Given the description of an element on the screen output the (x, y) to click on. 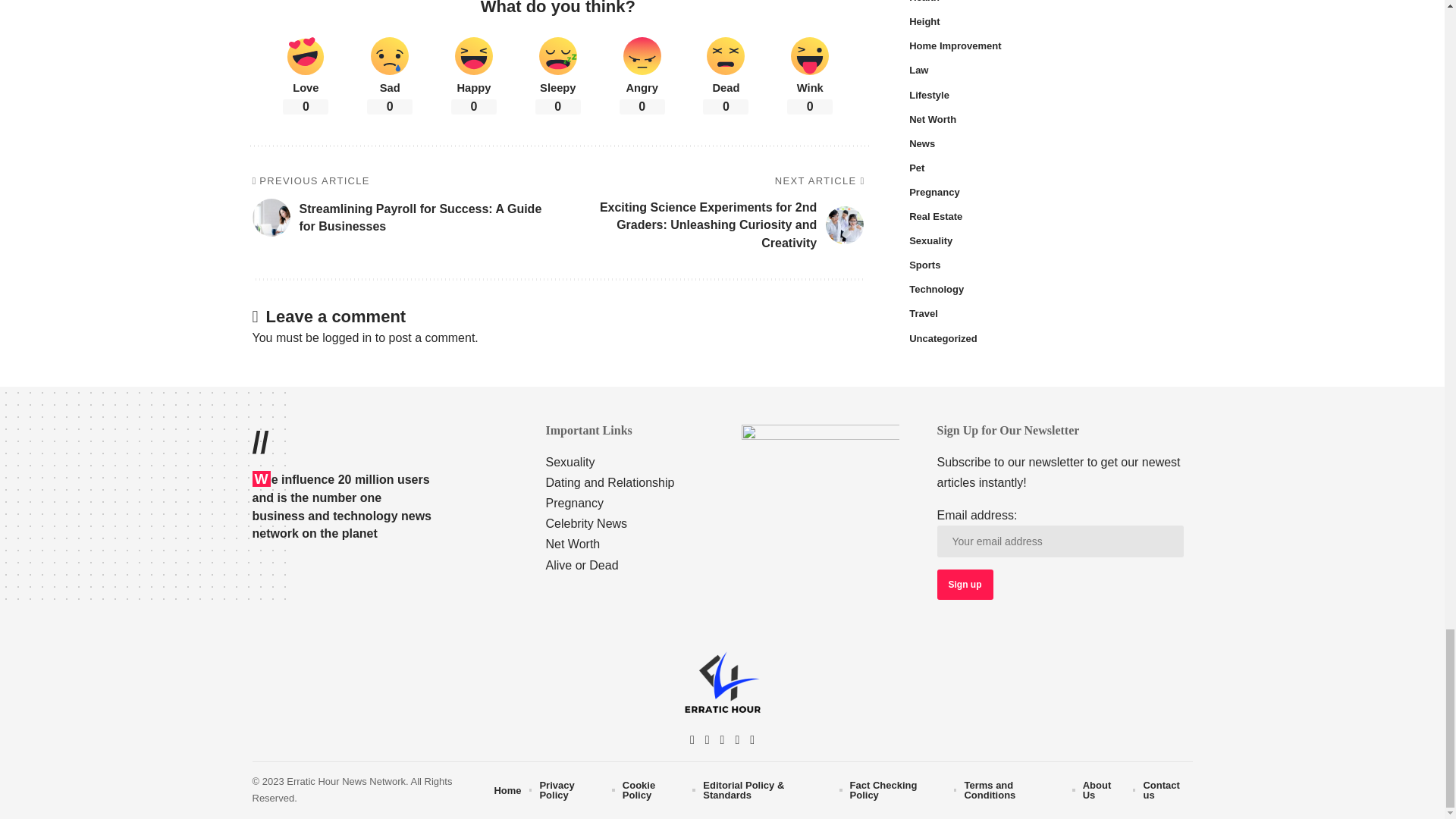
Sign up (964, 584)
